Given the description of an element on the screen output the (x, y) to click on. 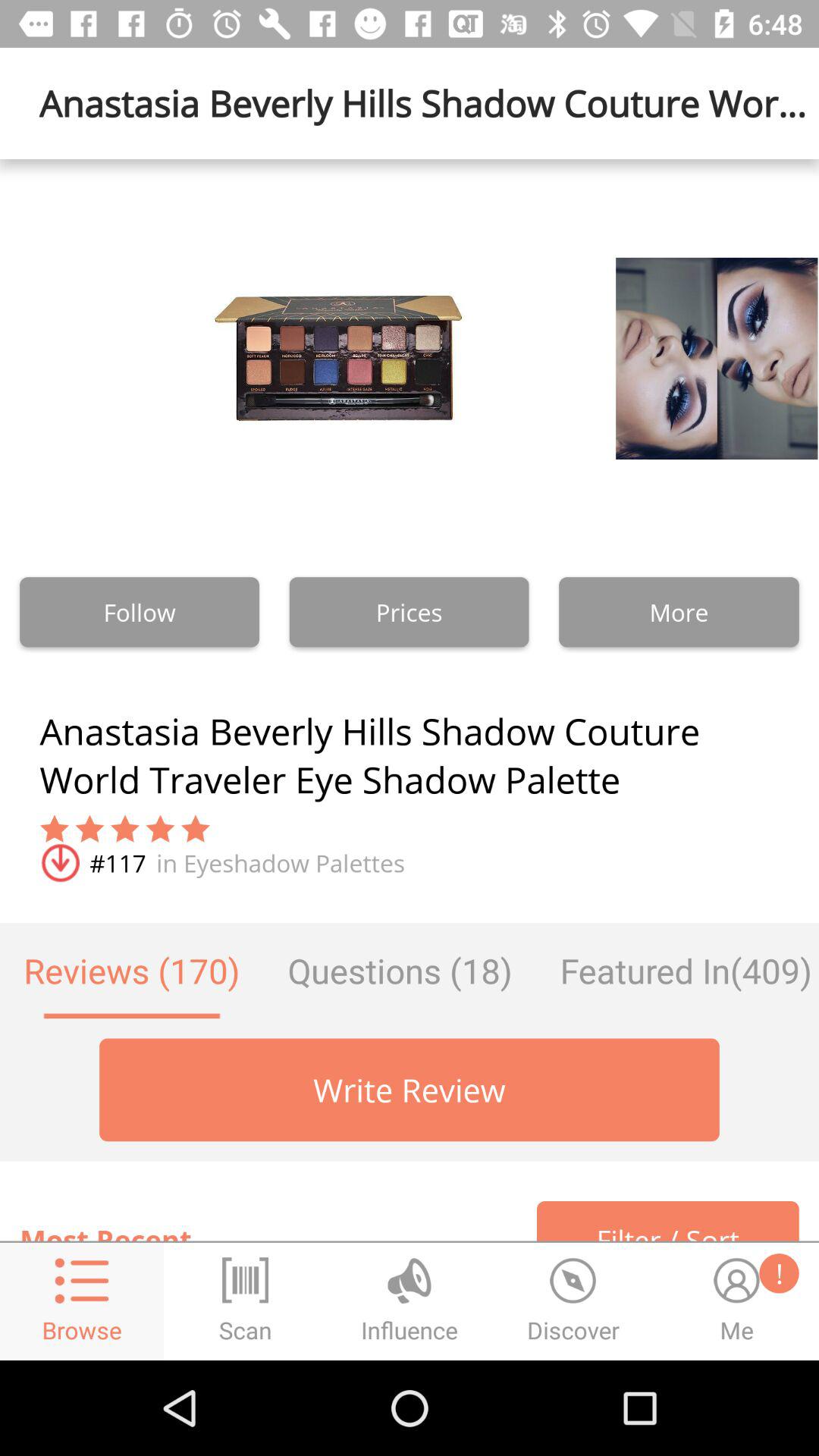
click on the scan image option (245, 1301)
select the image above more on the page (678, 358)
select the text which is to the right of prices (678, 611)
click on write review button (409, 1090)
click the follow button (139, 611)
click on the influence option (409, 1280)
